Given the description of an element on the screen output the (x, y) to click on. 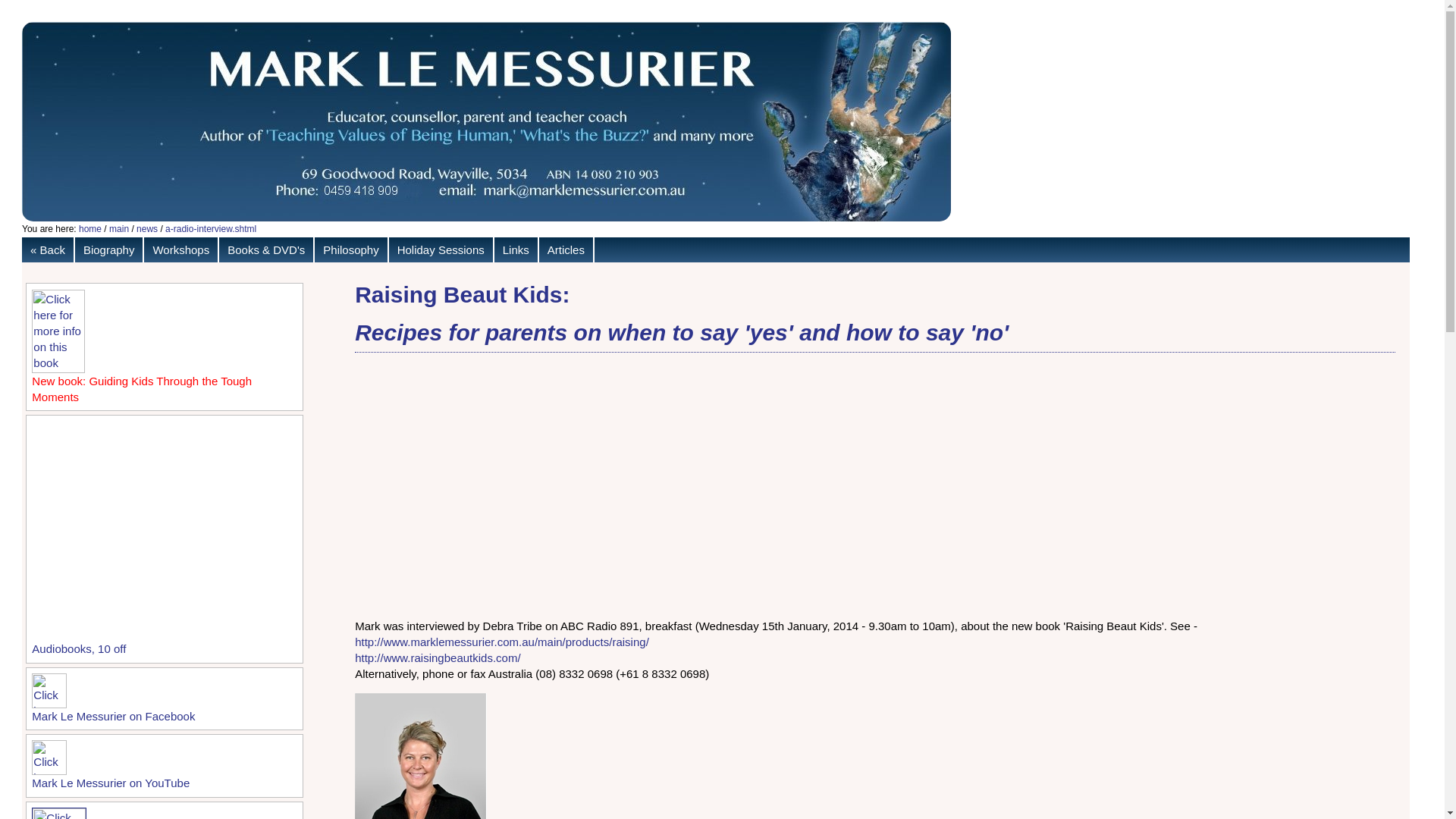
Workshops (181, 249)
Holiday Sessions (441, 249)
a-radio-interview.shtml (210, 228)
Links (516, 249)
Articles (566, 249)
main (119, 228)
Philosophy (351, 249)
news (146, 228)
home (89, 228)
Biography (109, 249)
